Given the description of an element on the screen output the (x, y) to click on. 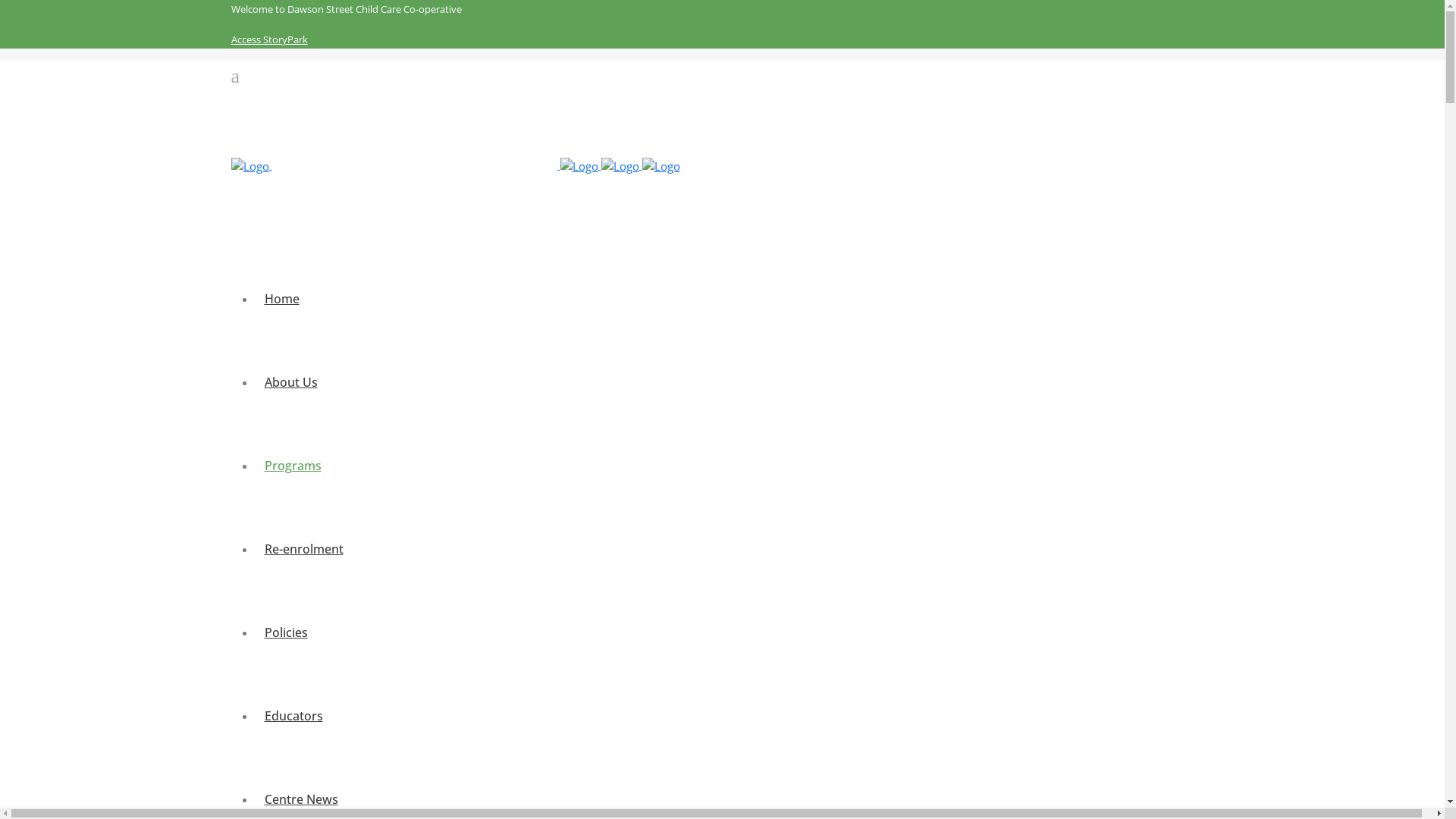
Programs Element type: text (291, 465)
Centre News Element type: text (300, 798)
Access StoryPark Element type: text (268, 39)
Educators Element type: text (292, 715)
Policies Element type: text (285, 632)
About Us Element type: text (290, 381)
Home Element type: text (280, 298)
Re-enrolment Element type: text (302, 548)
